Given the description of an element on the screen output the (x, y) to click on. 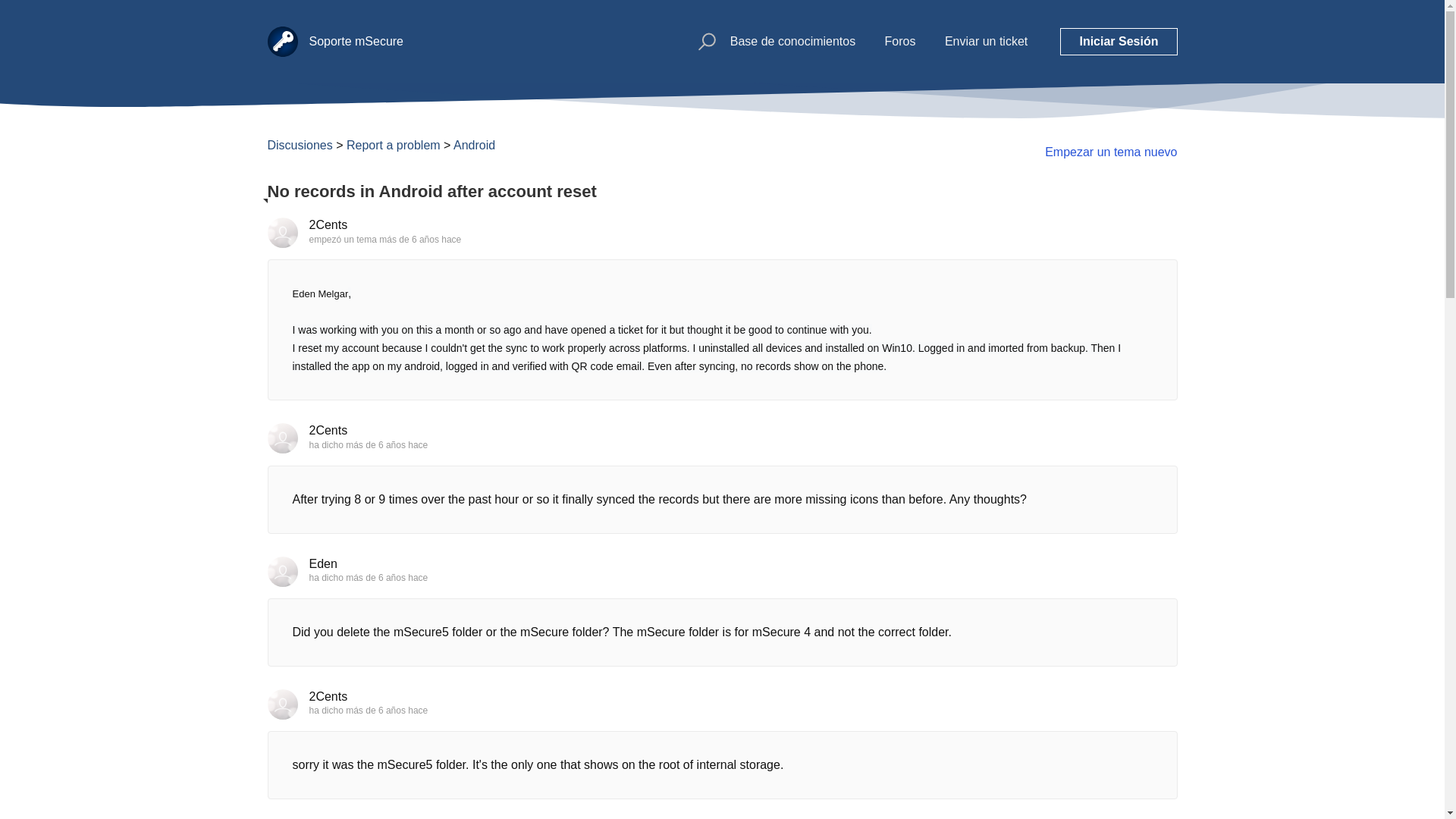
Report a problem (393, 144)
Enviar un ticket (985, 41)
Lun, Mar 5, 2018 a 10:05 A. M. (419, 239)
Foros (900, 41)
Empezar un tema nuevo (1110, 151)
Lun, Mar 5, 2018 a 12:52 P. M. (387, 444)
Android (473, 144)
Base de conocimientos (793, 41)
Empezar un tema nuevo (1110, 151)
Lun, Mar 5, 2018 a  1:11 P. M. (387, 577)
